Given the description of an element on the screen output the (x, y) to click on. 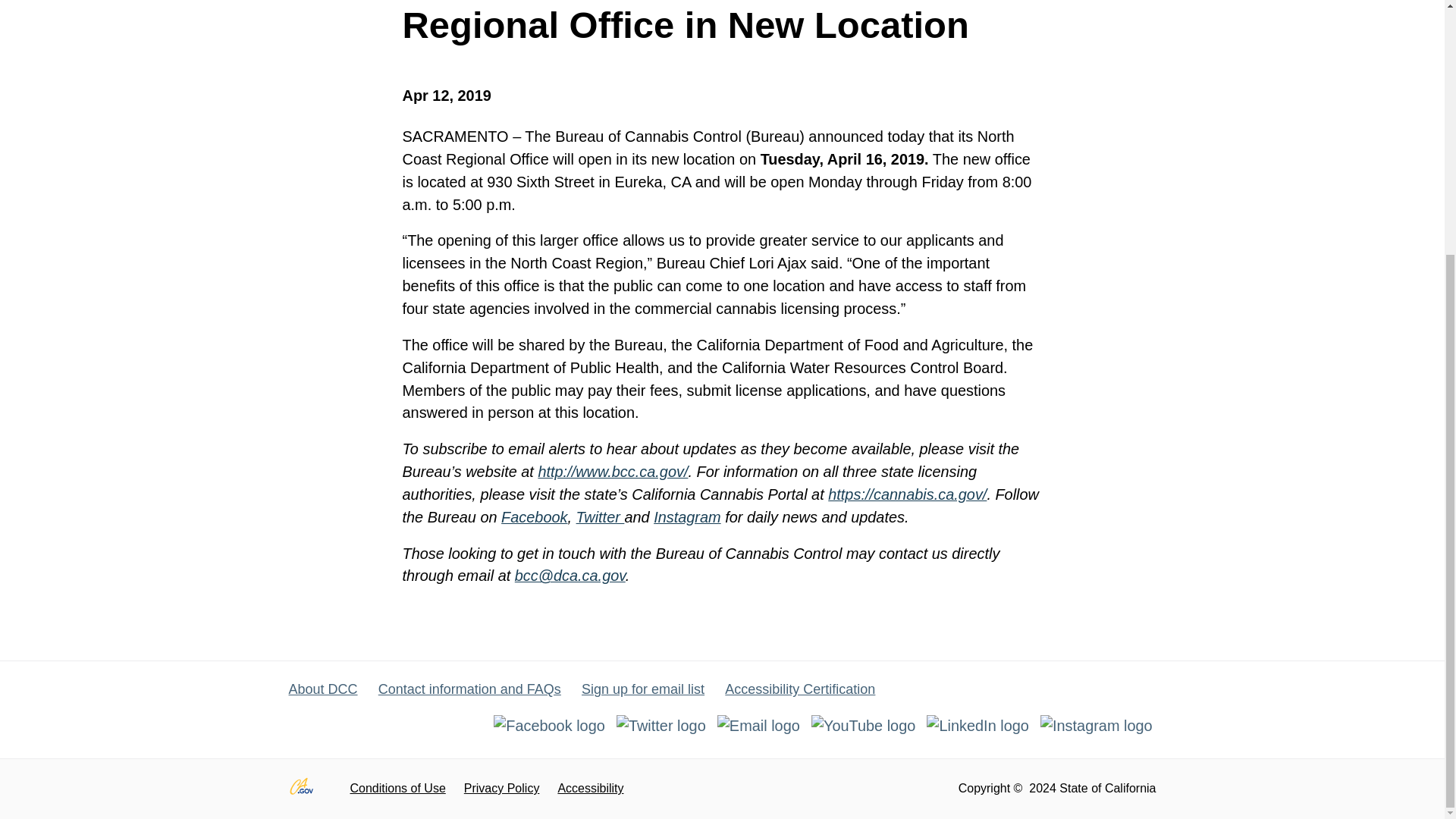
Share via YouTube (865, 725)
Share via LinkedIn (979, 725)
Share via Facebook (550, 725)
Share via Instagram (1096, 725)
Share via Email (760, 725)
ca.gov (309, 788)
Share via Twitter (662, 725)
